Given the description of an element on the screen output the (x, y) to click on. 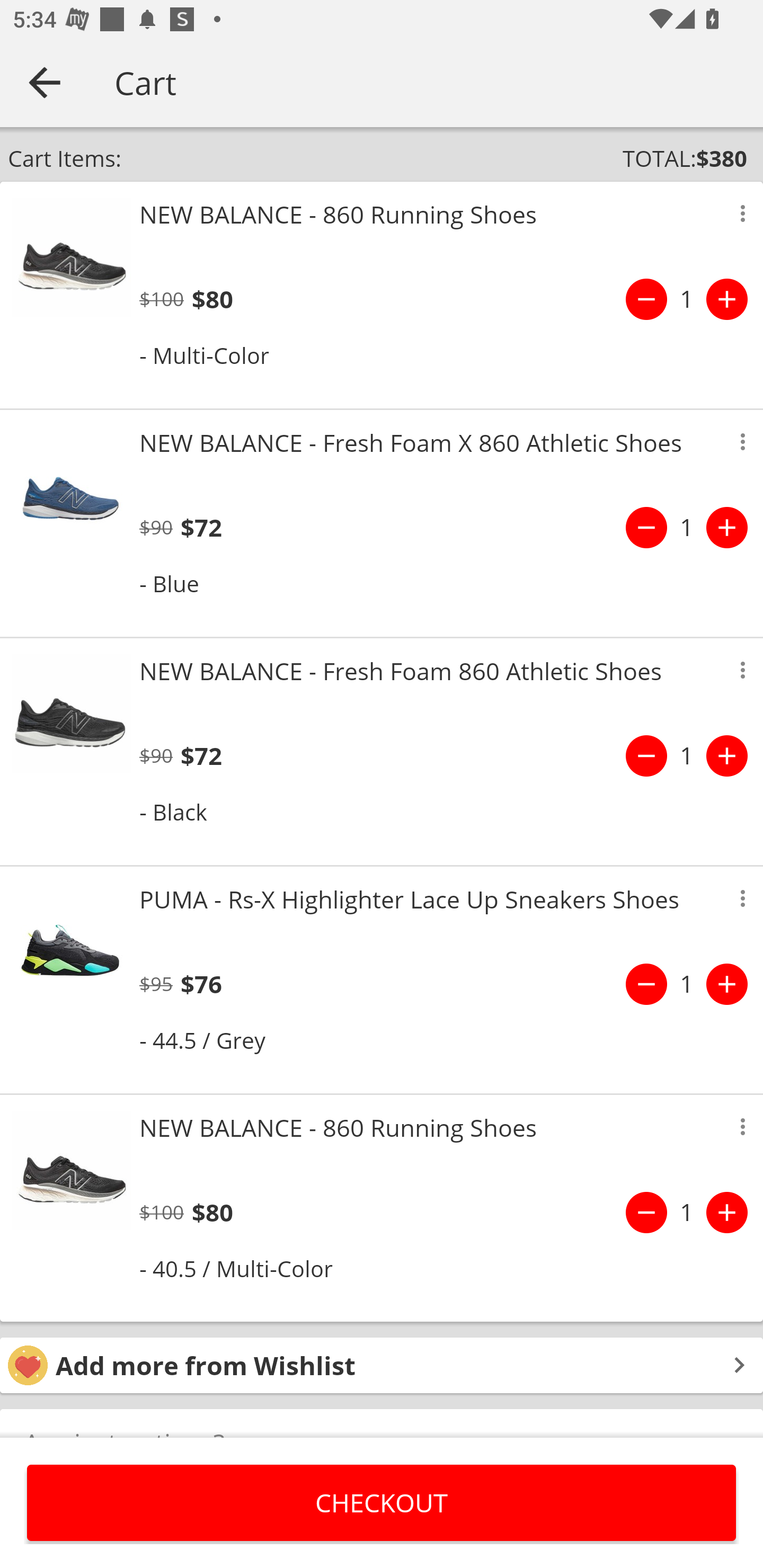
Navigate up (44, 82)
1 (686, 299)
1 (686, 527)
1 (686, 755)
1 (686, 984)
1 (686, 1211)
Add more from Wishlist (381, 1365)
CHECKOUT (381, 1502)
